Given the description of an element on the screen output the (x, y) to click on. 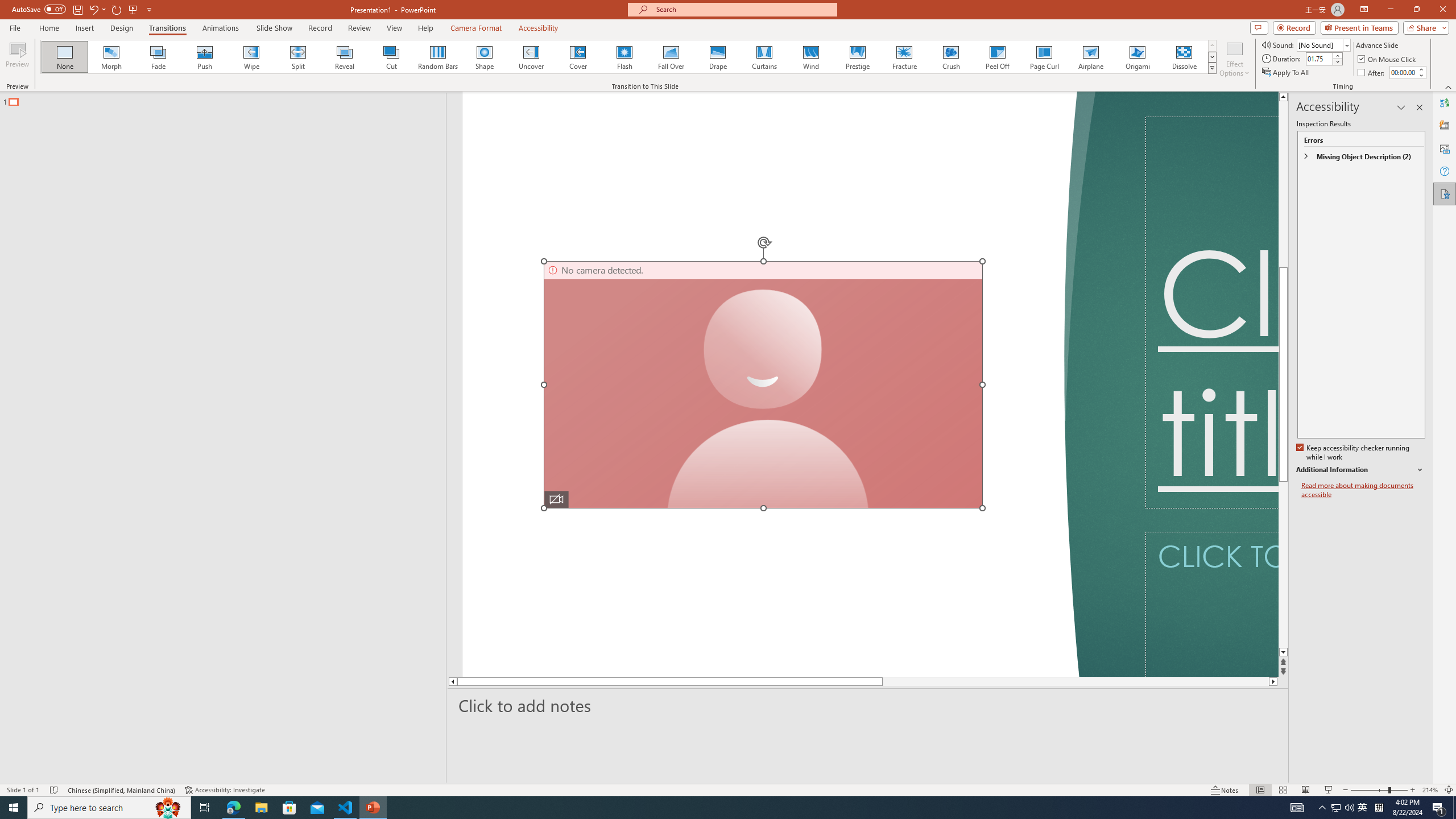
Normal (1260, 790)
Morph (111, 56)
Flash (624, 56)
Restore Down (1416, 9)
Line up (1283, 96)
Decorative Locked (779, 383)
